Given the description of an element on the screen output the (x, y) to click on. 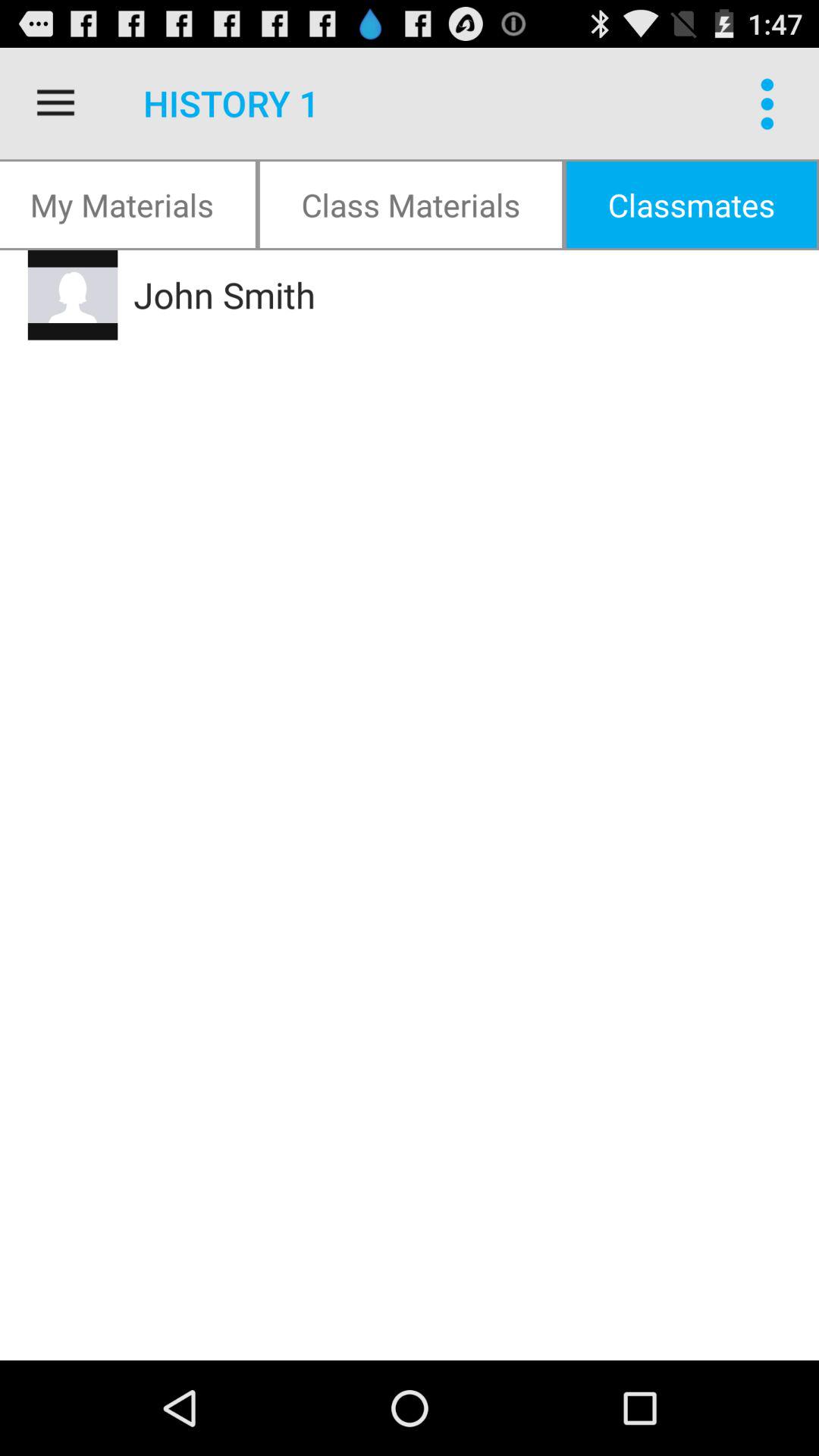
choose the item above the my materials (55, 103)
